Given the description of an element on the screen output the (x, y) to click on. 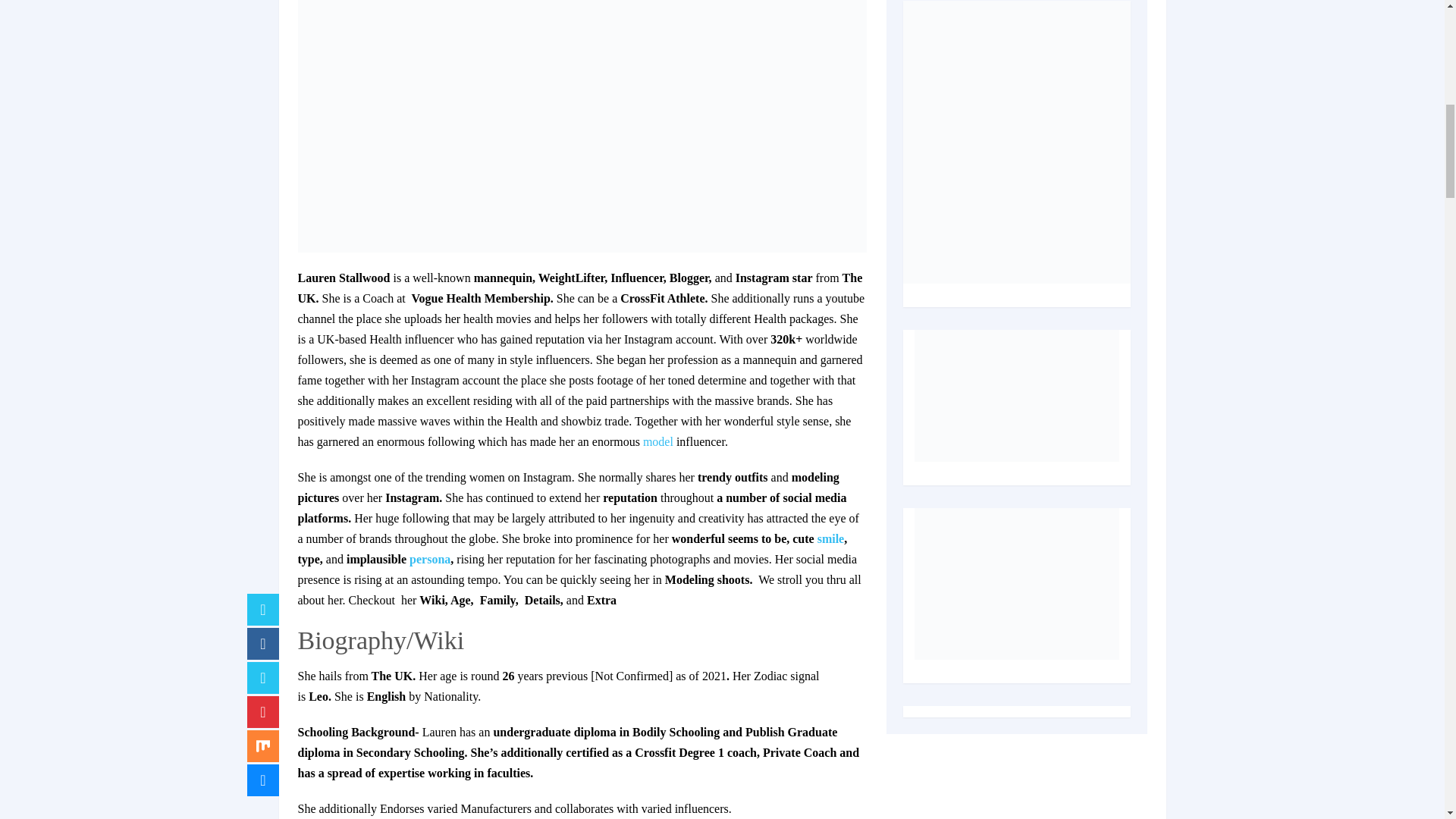
persona (429, 558)
Ester Kuntu Wiki (429, 558)
Antje Utgaard Wiki (657, 440)
model (657, 440)
Joanna Page Wiki (830, 538)
smile (830, 538)
